Given the description of an element on the screen output the (x, y) to click on. 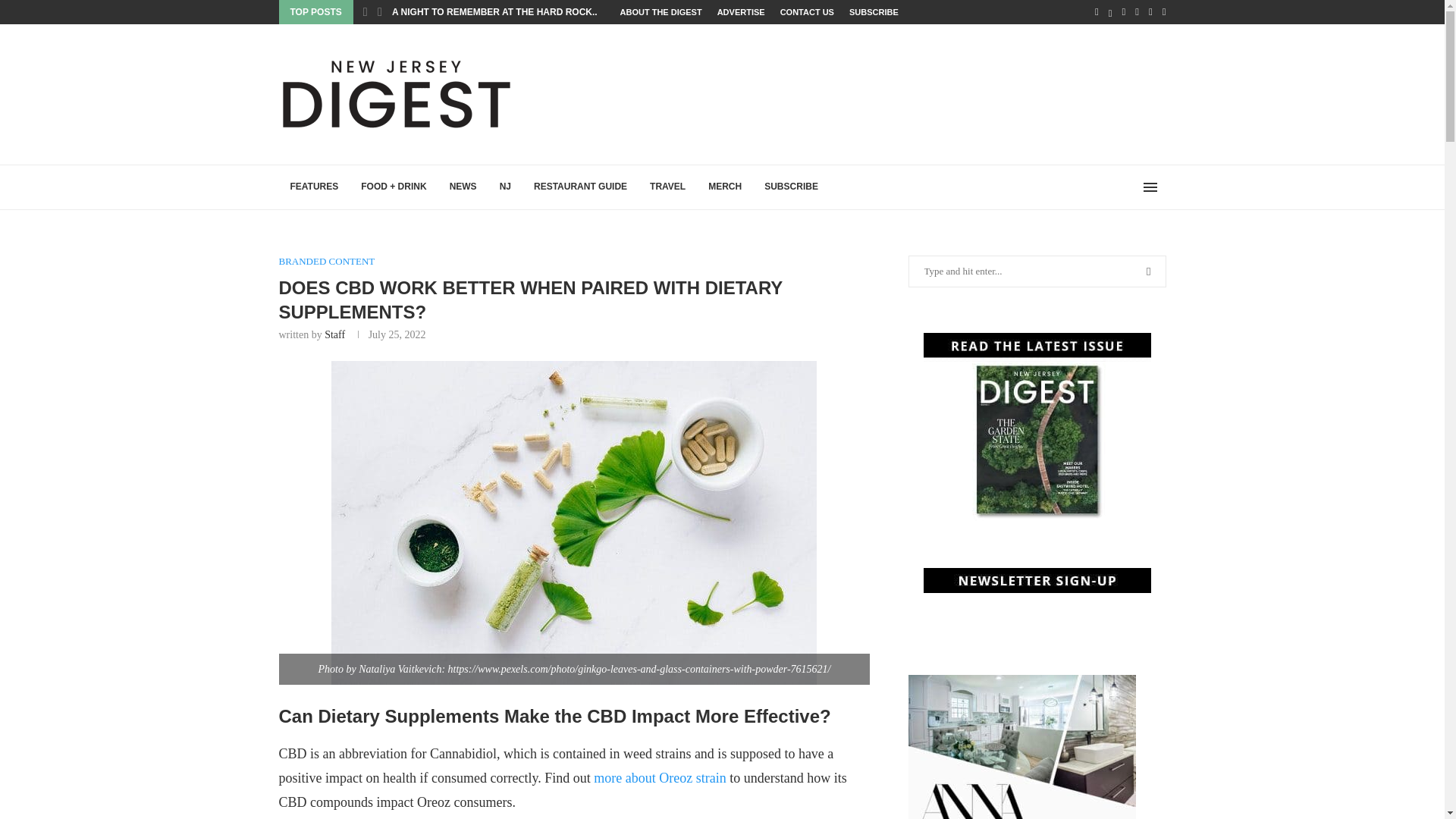
BRANDED CONTENT (327, 261)
ABOUT THE DIGEST (660, 12)
RESTAURANT GUIDE (580, 186)
Staff (334, 334)
CONTACT US (807, 12)
SUBSCRIBE (790, 186)
TRAVEL (668, 186)
NEWS (462, 186)
more about Oreoz strain (661, 777)
A NIGHT TO REMEMBER AT THE HARD ROCK... (495, 11)
ADVERTISE (741, 12)
SUBSCRIBE (873, 12)
FEATURES (314, 186)
MERCH (724, 186)
